Given the description of an element on the screen output the (x, y) to click on. 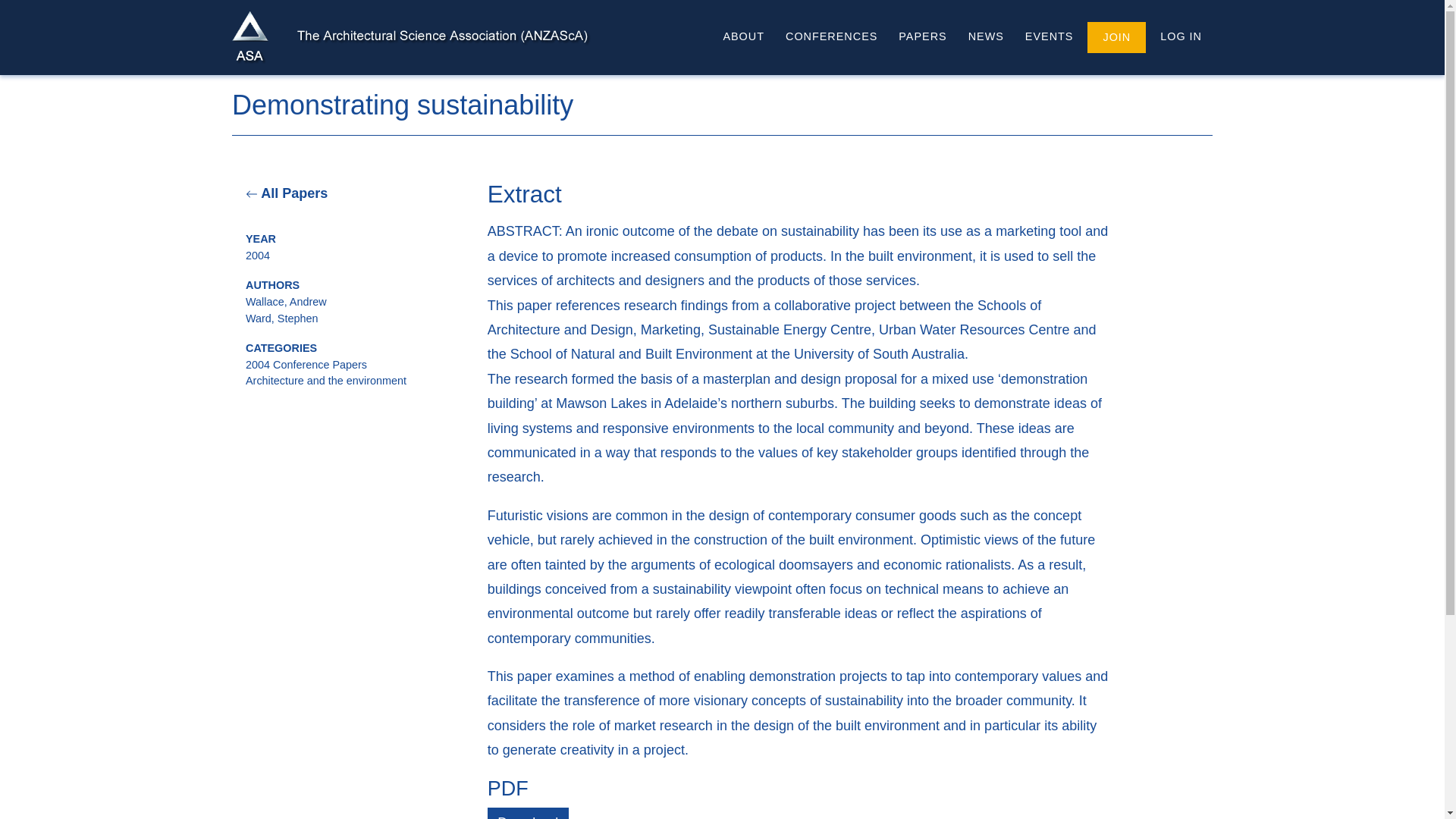
ABOUT (743, 37)
NEWS (985, 37)
PAPERS (922, 37)
CONFERENCES (830, 37)
Download (528, 813)
LOG IN (1177, 37)
EVENTS (1048, 37)
All Papers (286, 192)
JOIN (1116, 38)
